Given the description of an element on the screen output the (x, y) to click on. 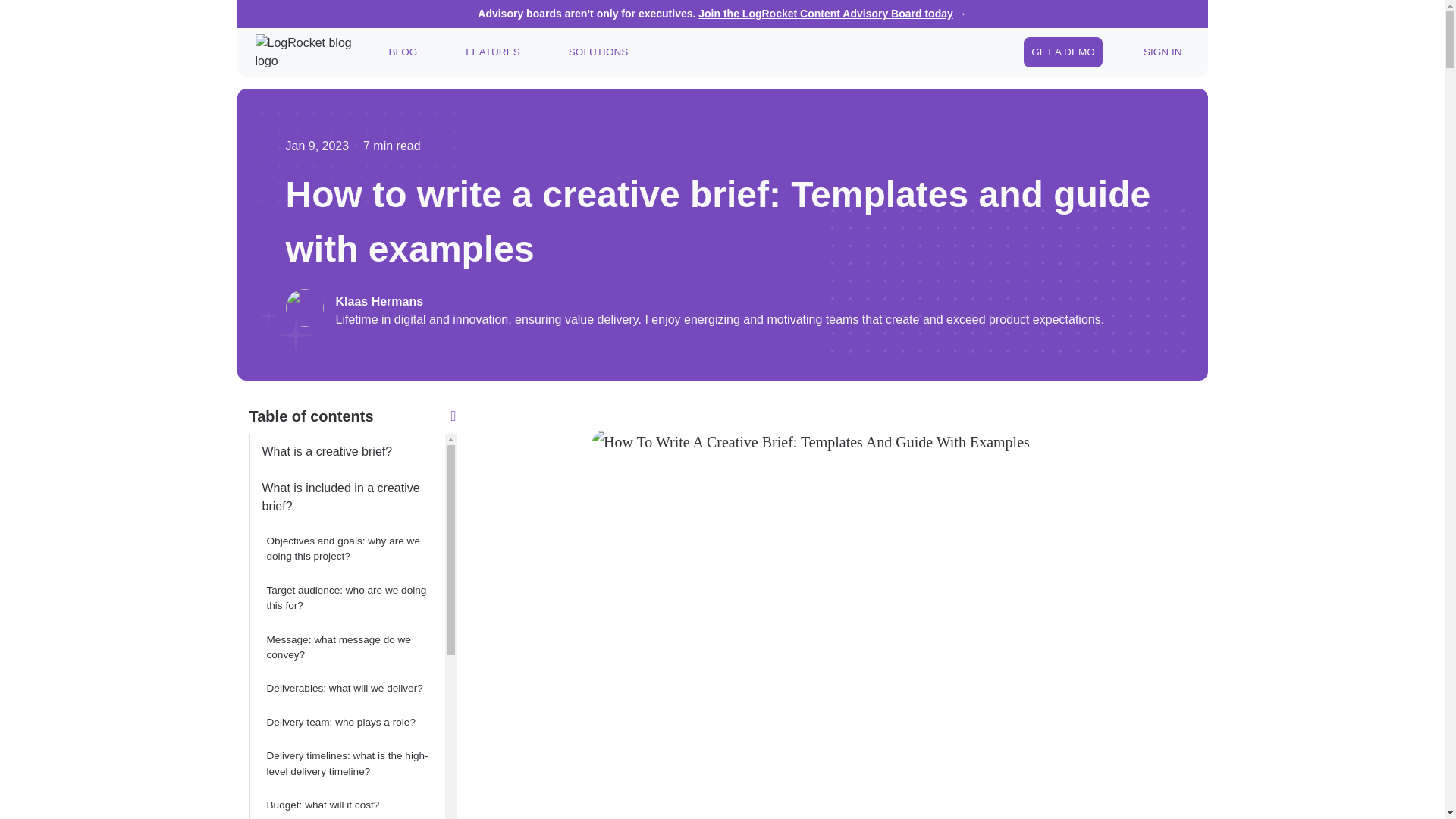
Delivery team: who plays a role? (346, 722)
FEATURES (492, 51)
GET A DEMO (1062, 51)
SOLUTIONS (598, 51)
SIGN IN (1162, 51)
Budget: what will it cost? (346, 803)
What is a creative brief? (346, 452)
Klaas Hermans (718, 301)
Objectives and goals: why are we doing this project? (346, 549)
Deliverables: what will we deliver? (346, 688)
